Given the description of an element on the screen output the (x, y) to click on. 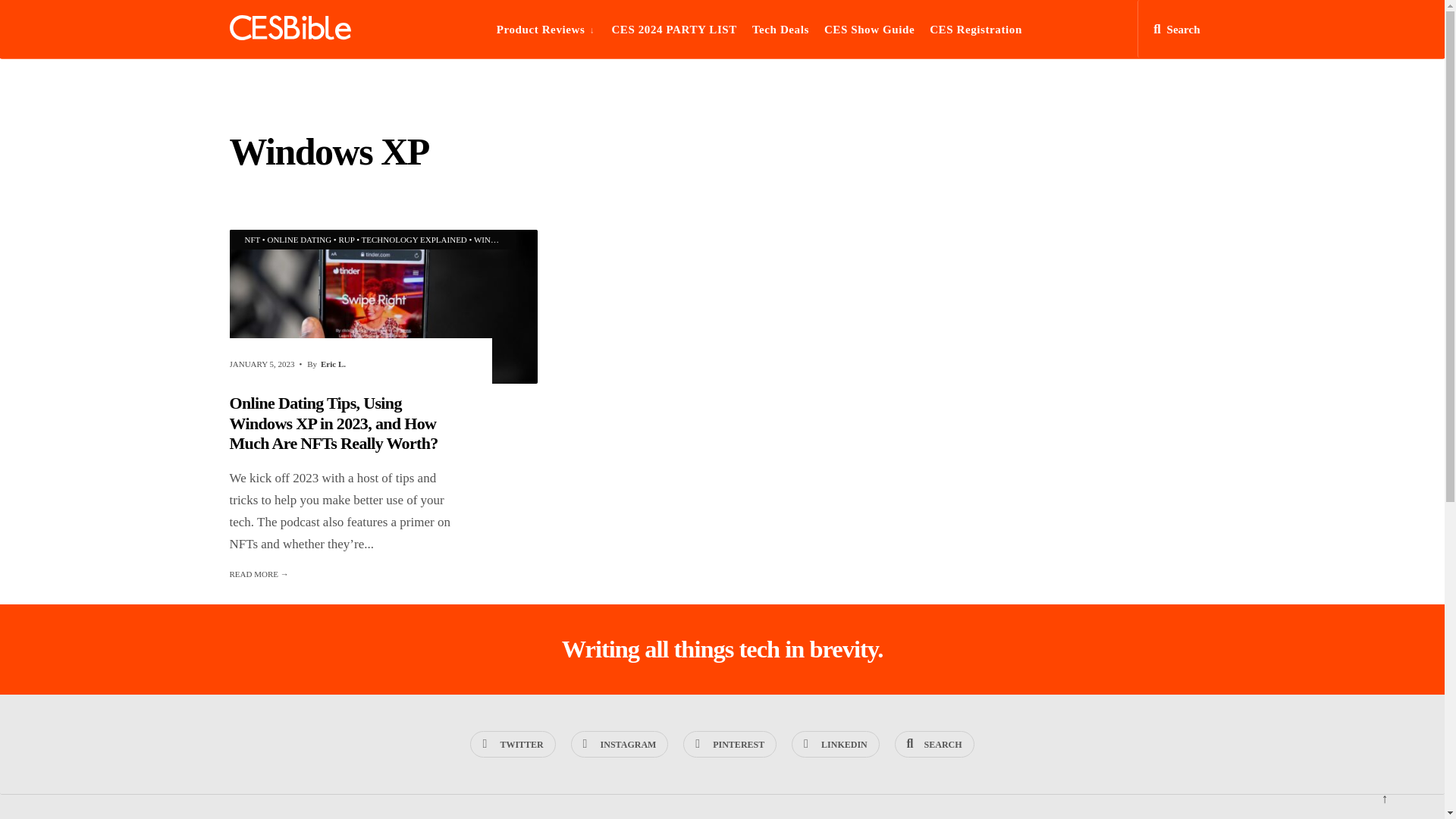
Pinterest (729, 744)
WINDOWS XP (500, 239)
RUP (345, 239)
Tech Deals (780, 29)
ONLINE DATING (298, 239)
CES Registration (976, 29)
Scroll to top (1384, 800)
Search (1176, 32)
CES Show Guide (869, 29)
LinkedIn (835, 744)
